Given the description of an element on the screen output the (x, y) to click on. 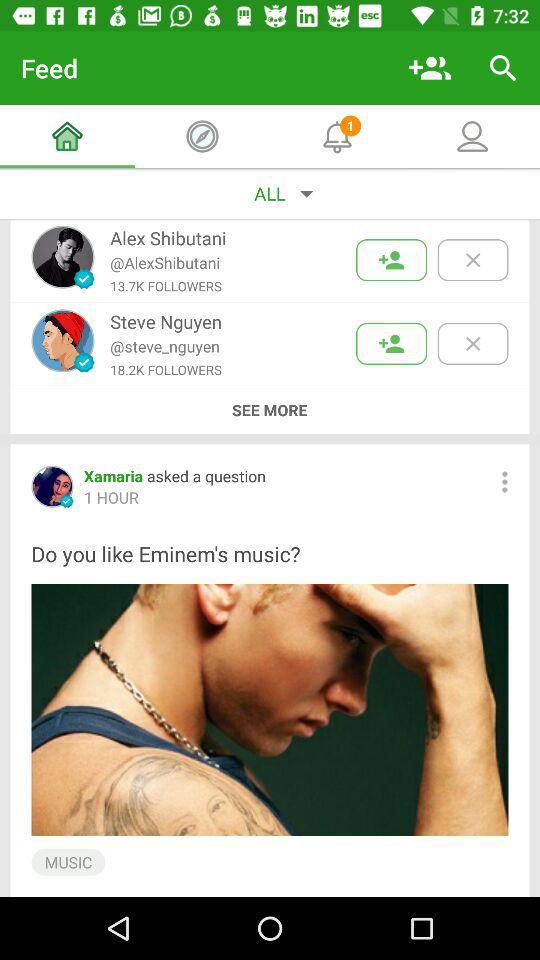
click the cross mark (472, 260)
